Given the description of an element on the screen output the (x, y) to click on. 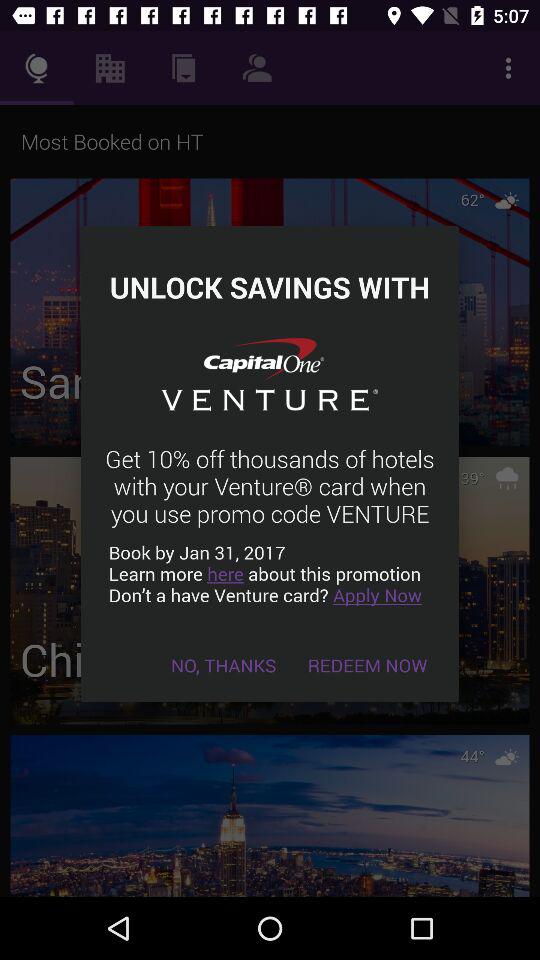
jump until the no, thanks item (223, 664)
